Given the description of an element on the screen output the (x, y) to click on. 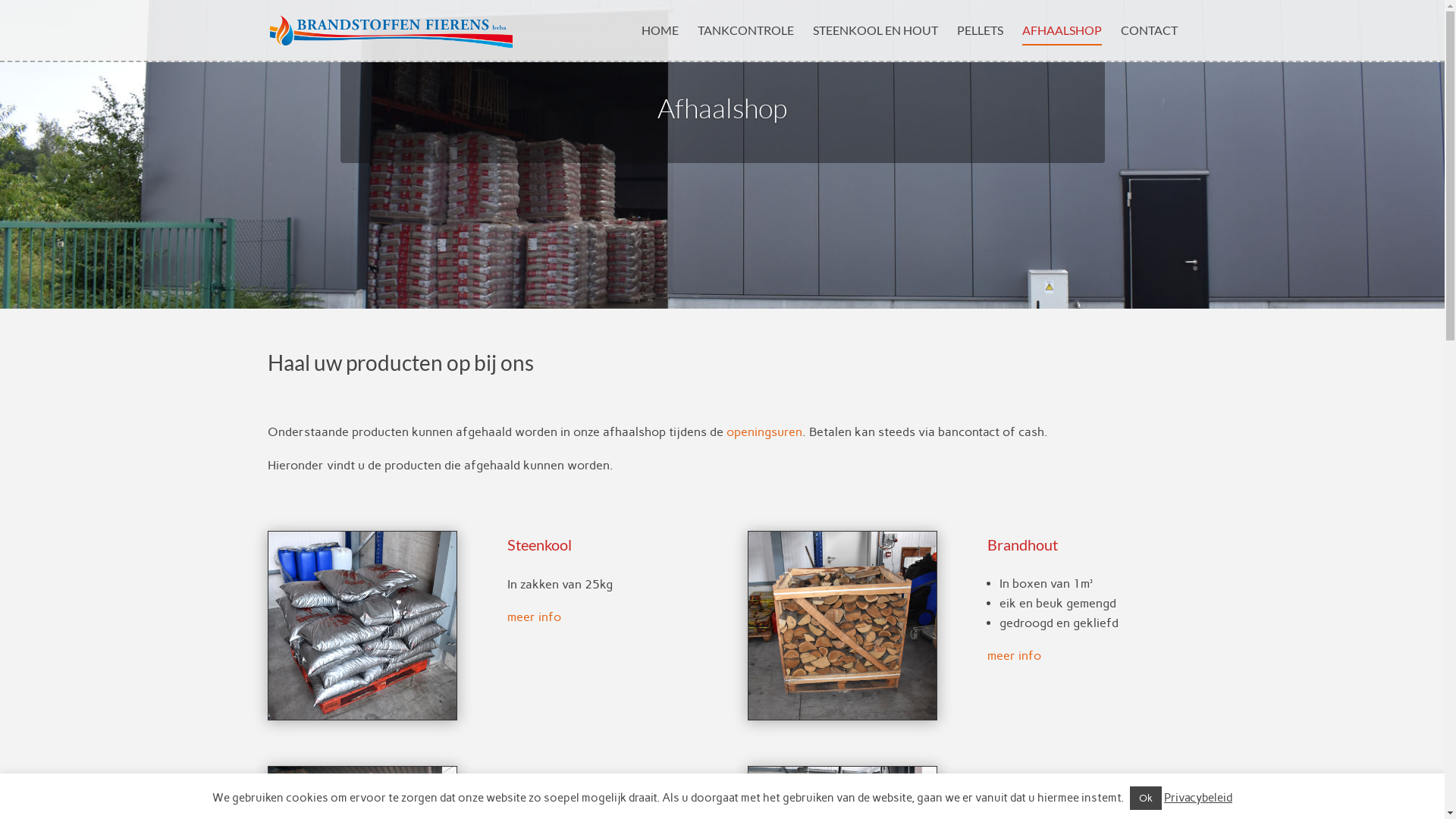
AFHAALSHOP Element type: text (1061, 42)
meer info Element type: text (534, 616)
STEENKOOL EN HOUT Element type: text (875, 42)
TANKCONTROLE Element type: text (745, 42)
CONTACT Element type: text (1148, 42)
Ok Element type: text (1145, 797)
Privacybeleid Element type: text (1198, 797)
HOME Element type: text (659, 42)
PELLETS Element type: text (980, 42)
meer info Element type: text (1014, 655)
openingsuren Element type: text (764, 431)
